Given the description of an element on the screen output the (x, y) to click on. 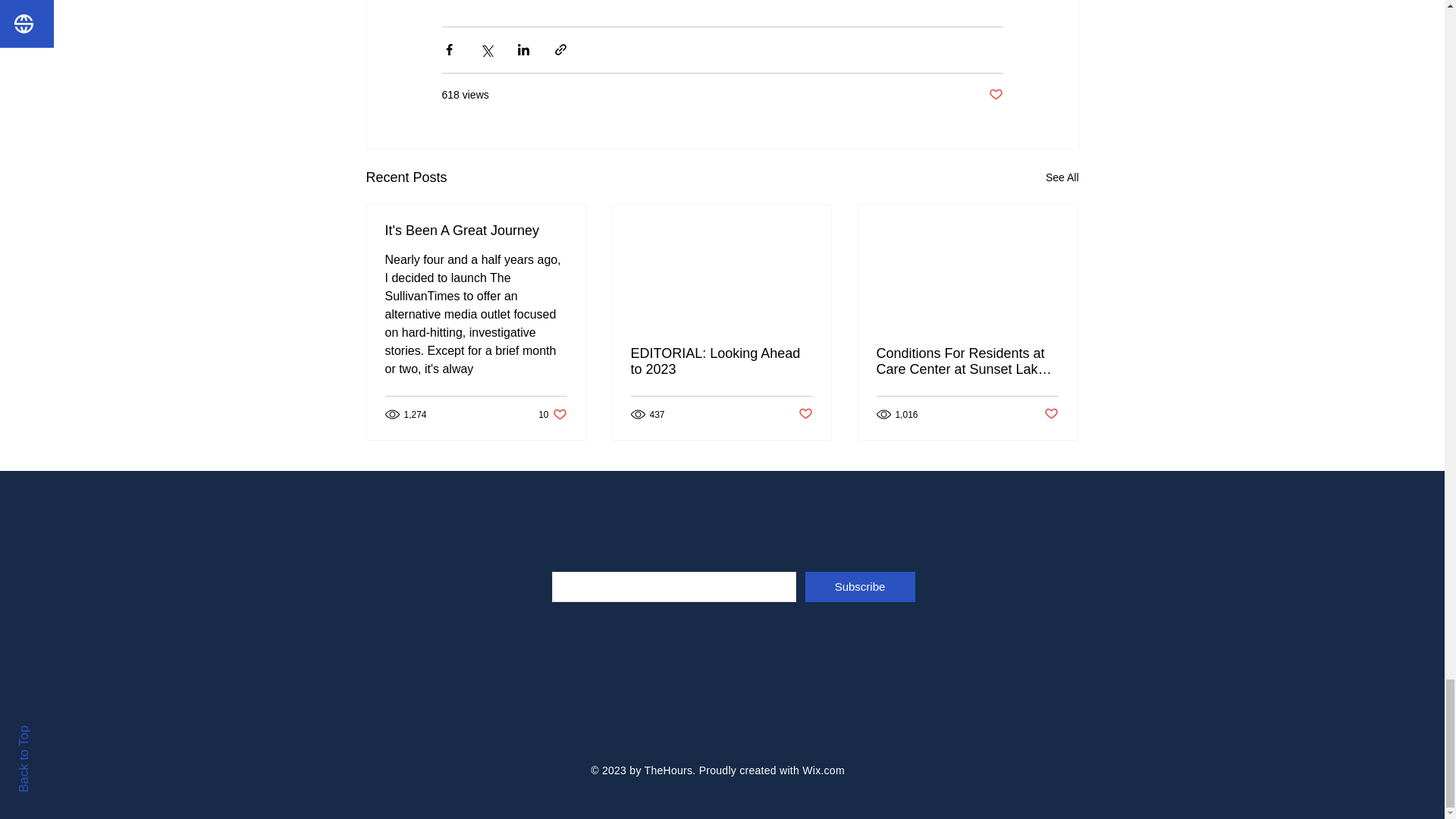
See All (1061, 178)
Post not marked as liked (552, 414)
Post not marked as liked (1050, 414)
EDITORIAL: Looking Ahead to 2023 (995, 94)
It's Been A Great Journey (721, 361)
Post not marked as liked (476, 230)
Subscribe (804, 414)
Wix.com (860, 586)
